Given the description of an element on the screen output the (x, y) to click on. 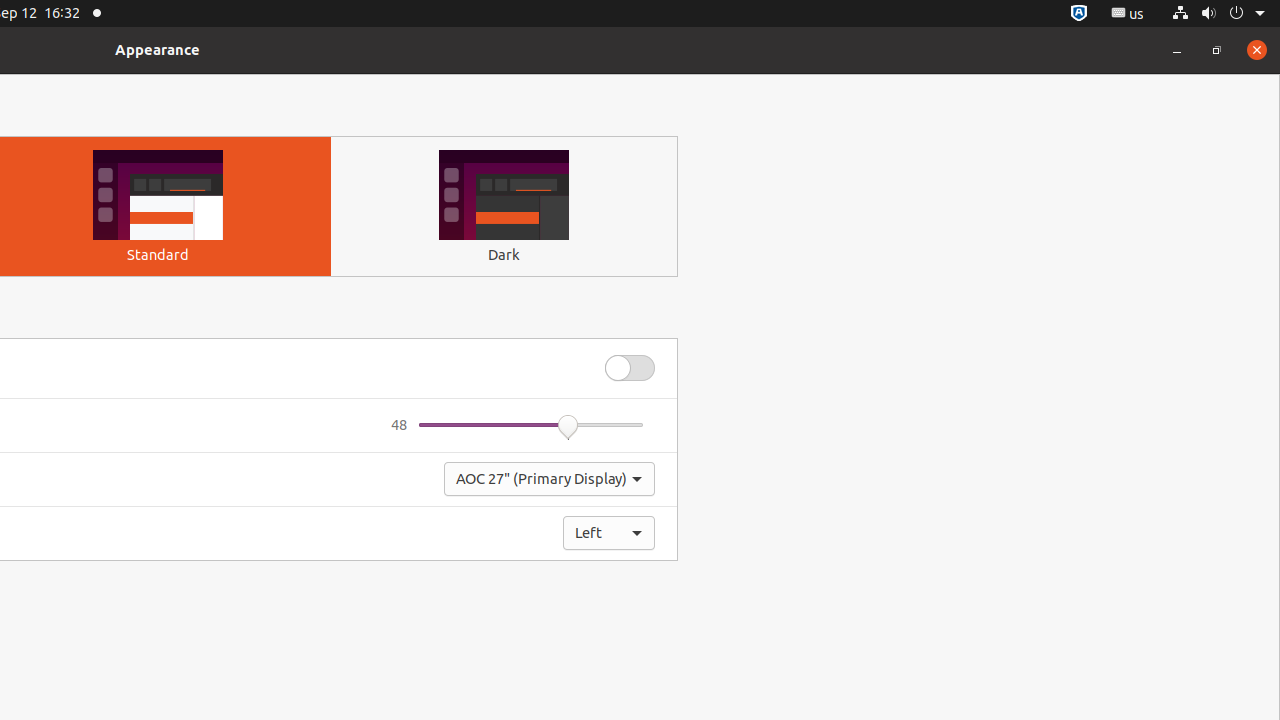
AOC 27" (Primary Display) Element type: combo-box (549, 479)
Appearance Element type: label (157, 49)
Dark Element type: label (504, 254)
Minimize Element type: push-button (1177, 50)
